Given the description of an element on the screen output the (x, y) to click on. 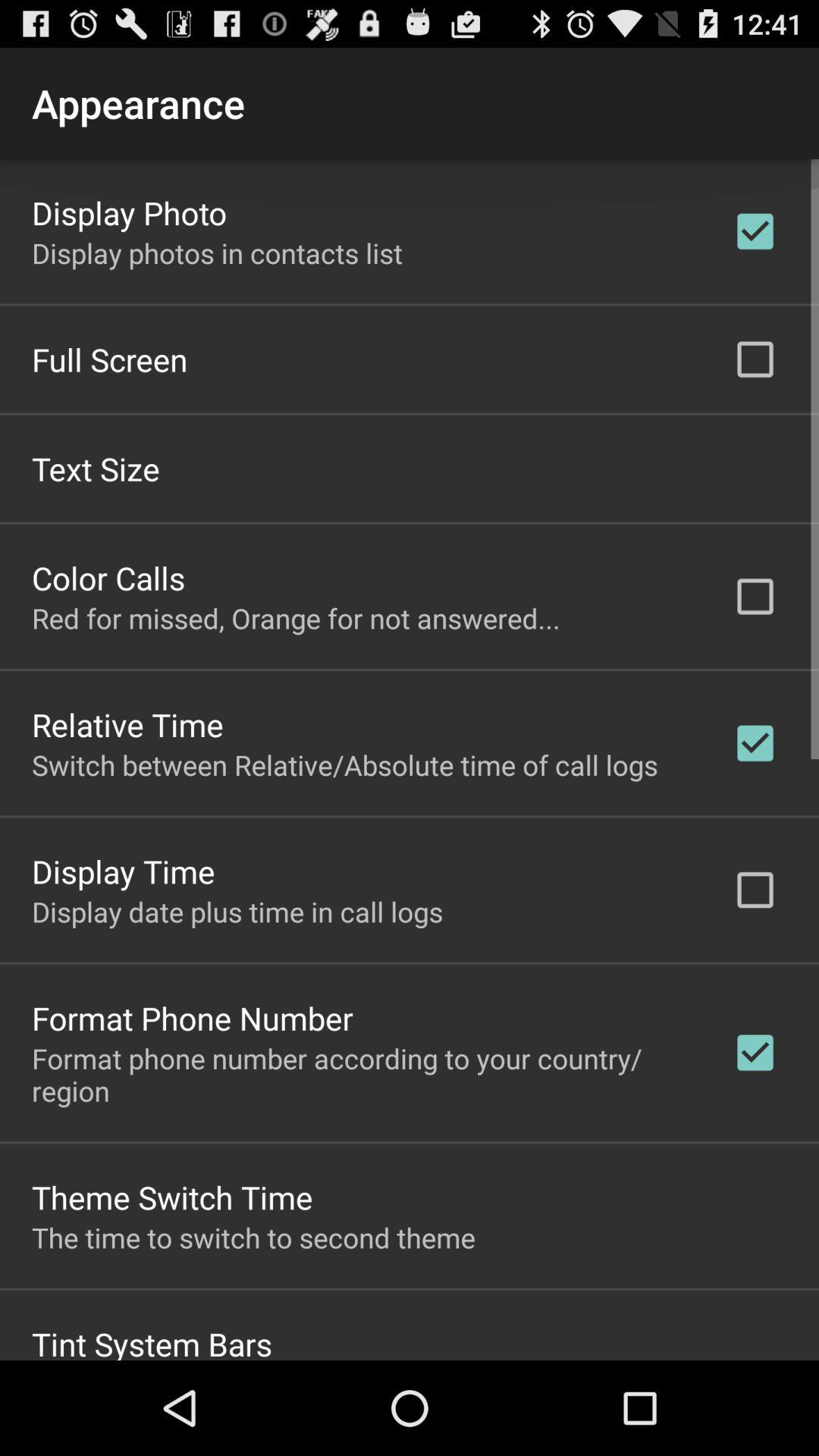
click the tint system bars app (151, 1340)
